Given the description of an element on the screen output the (x, y) to click on. 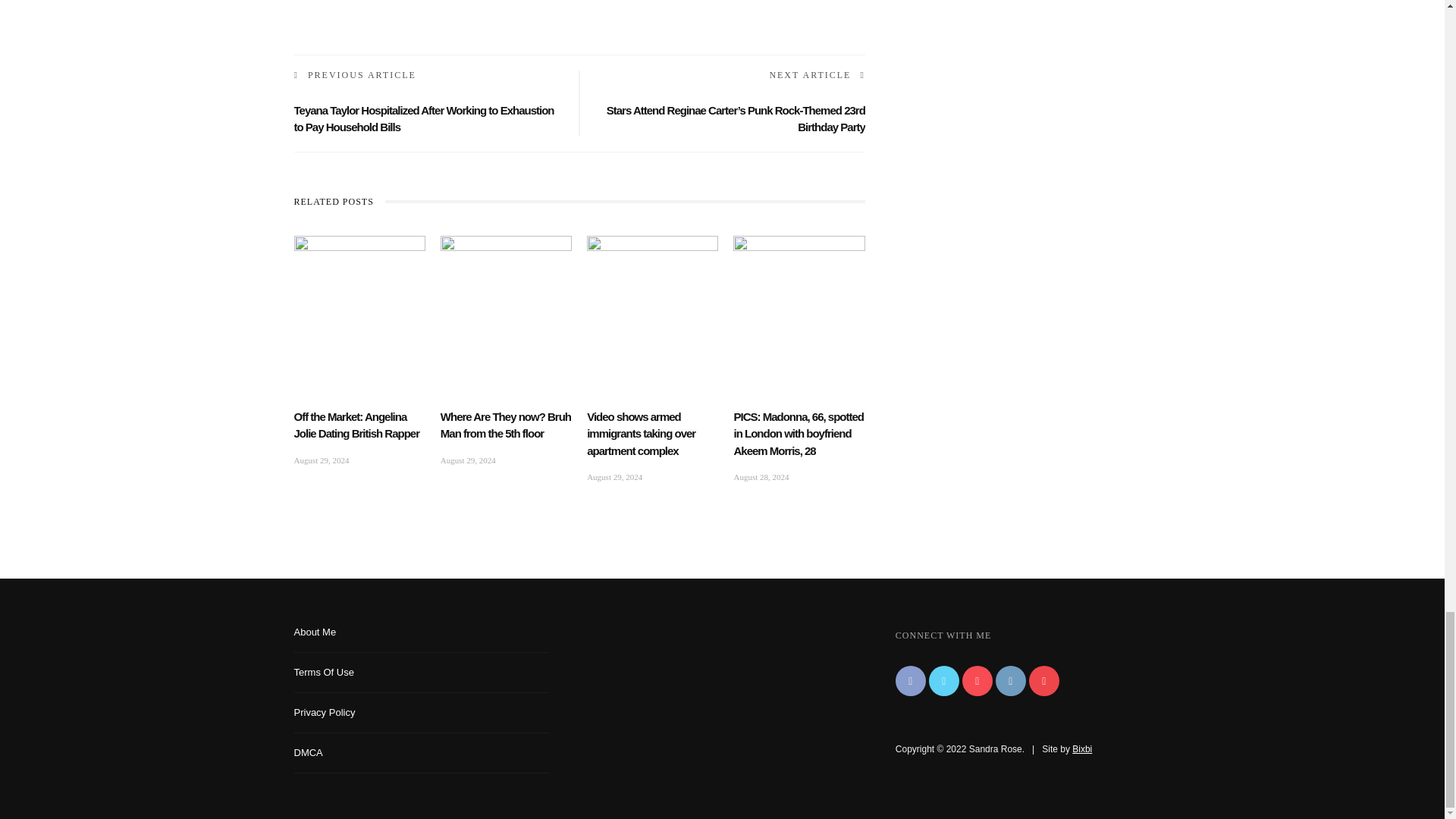
Video shows armed immigrants taking over apartment complex (651, 273)
Where Are They now? Bruh Man from the 5th floor (506, 273)
Video shows armed immigrants taking over apartment complex (640, 433)
Where Are They now? Bruh Man from the 5th floor (505, 425)
Off the Market: Angelina Jolie Dating British Rapper (359, 273)
Off the Market: Angelina Jolie Dating British Rapper (357, 425)
